Given the description of an element on the screen output the (x, y) to click on. 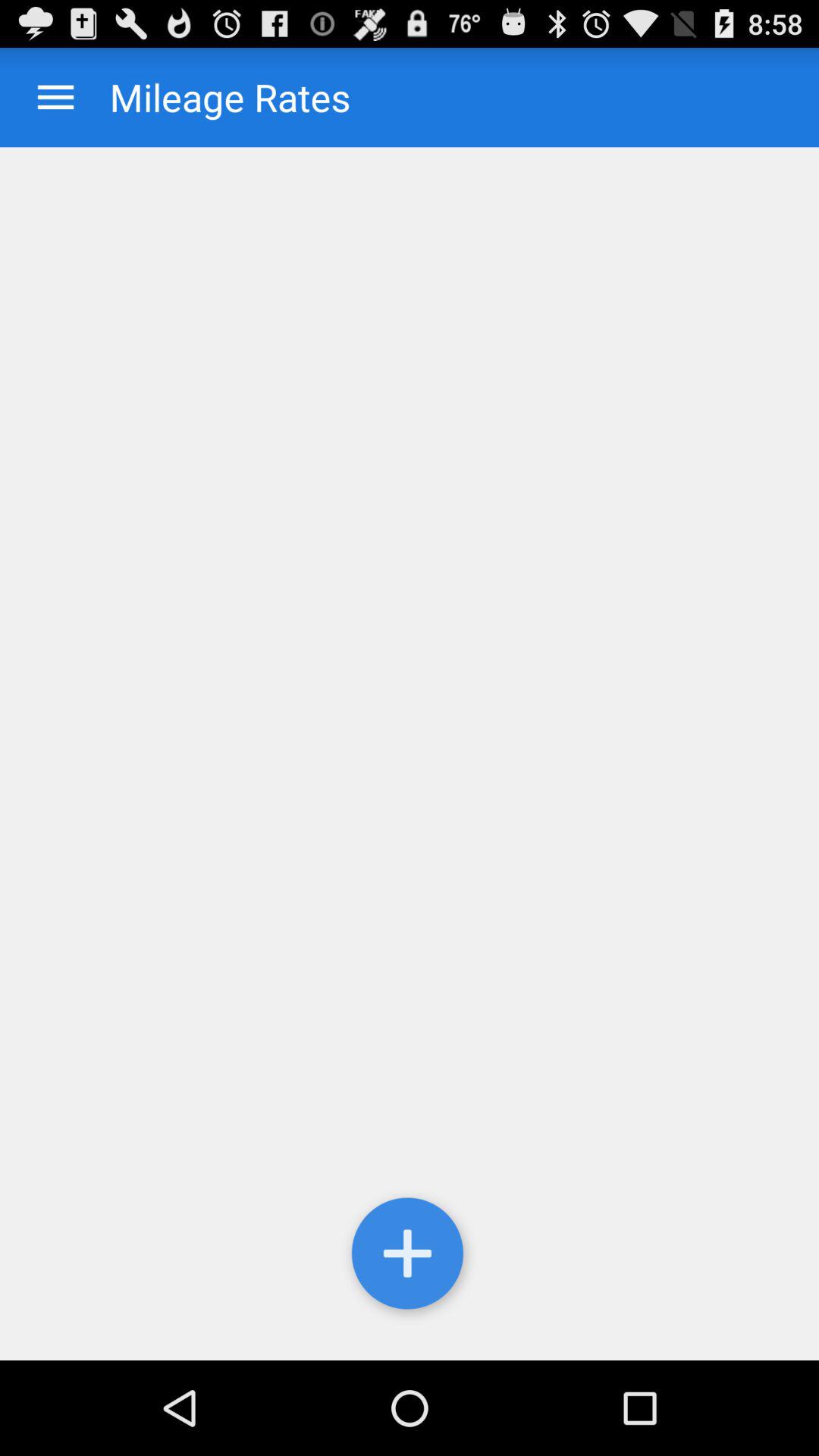
menu button bar (55, 97)
